Given the description of an element on the screen output the (x, y) to click on. 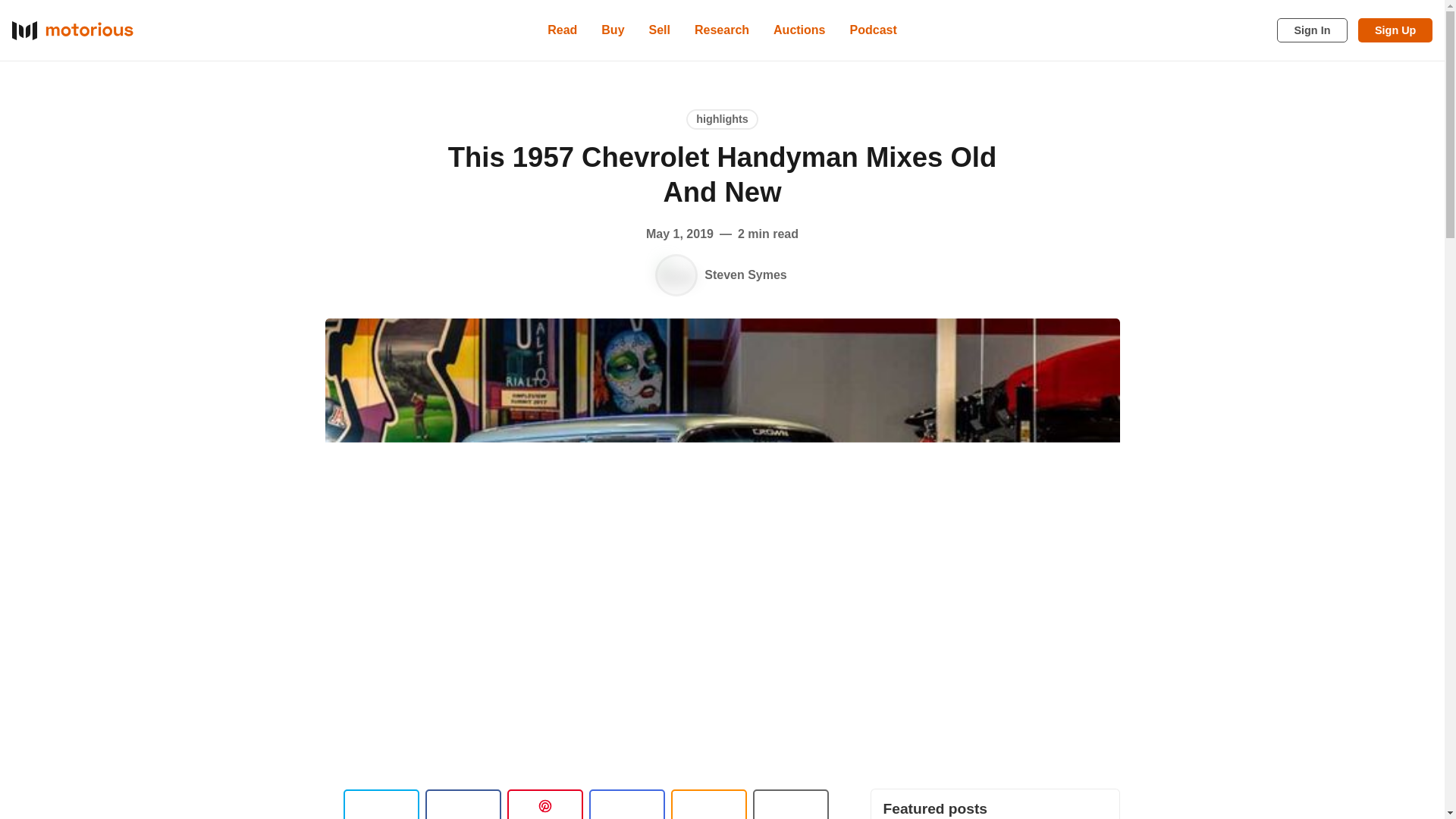
Podcast (873, 29)
Share on Facebook (462, 804)
Research (721, 29)
Read (562, 29)
Sell (659, 29)
Bookmark (790, 804)
Buy (612, 29)
Sign Up (1395, 30)
Auctions (799, 29)
Steven Symes (676, 275)
highlights (721, 118)
Share by email (625, 804)
Share on Linkedin (544, 804)
Sign In (1312, 30)
Steven Symes (745, 274)
